Given the description of an element on the screen output the (x, y) to click on. 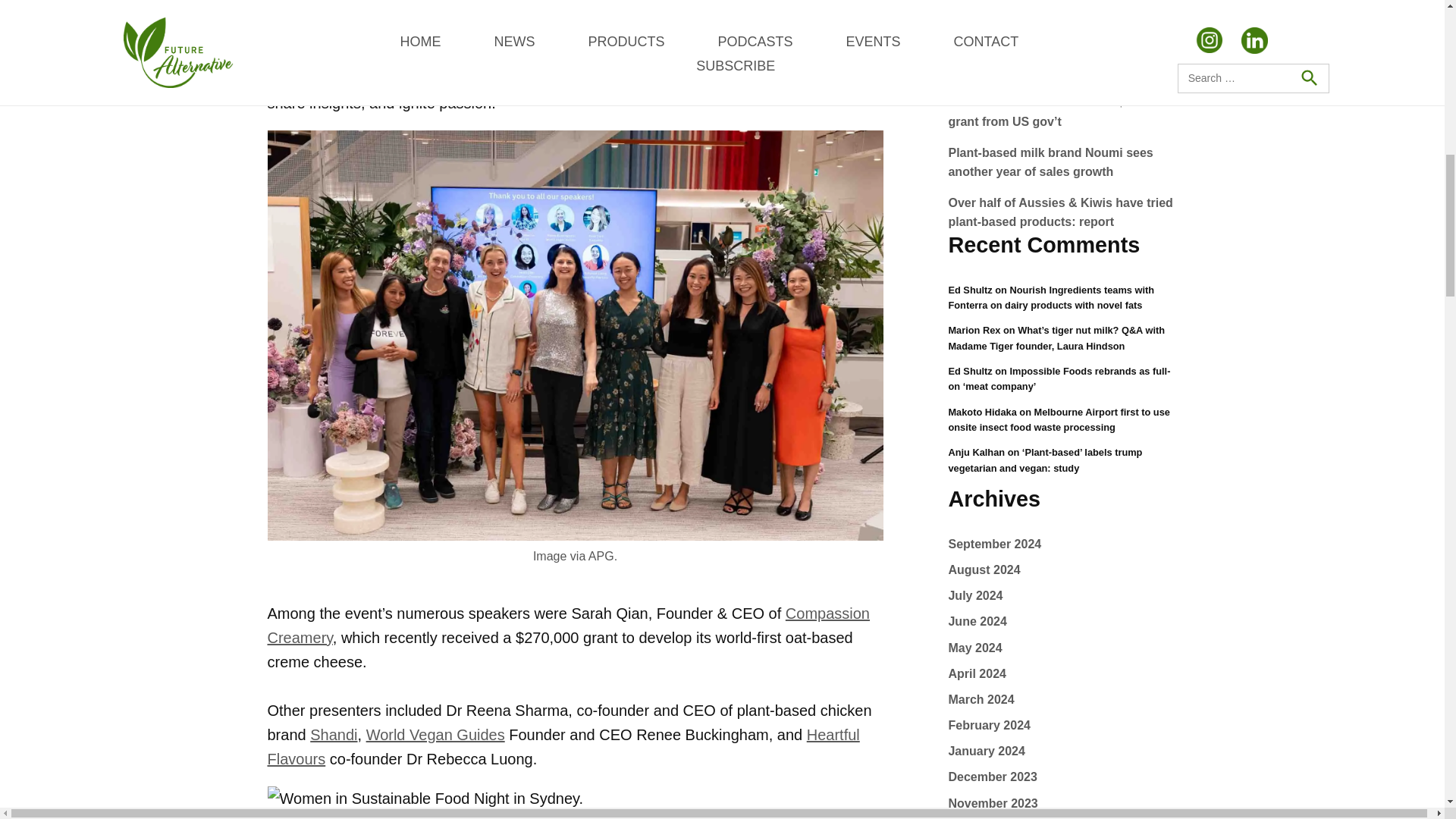
Heartful Flavours (562, 746)
June 2024 (976, 621)
August 2024 (983, 569)
September 2024 (994, 543)
Shandi (333, 734)
July 2024 (975, 594)
